Given the description of an element on the screen output the (x, y) to click on. 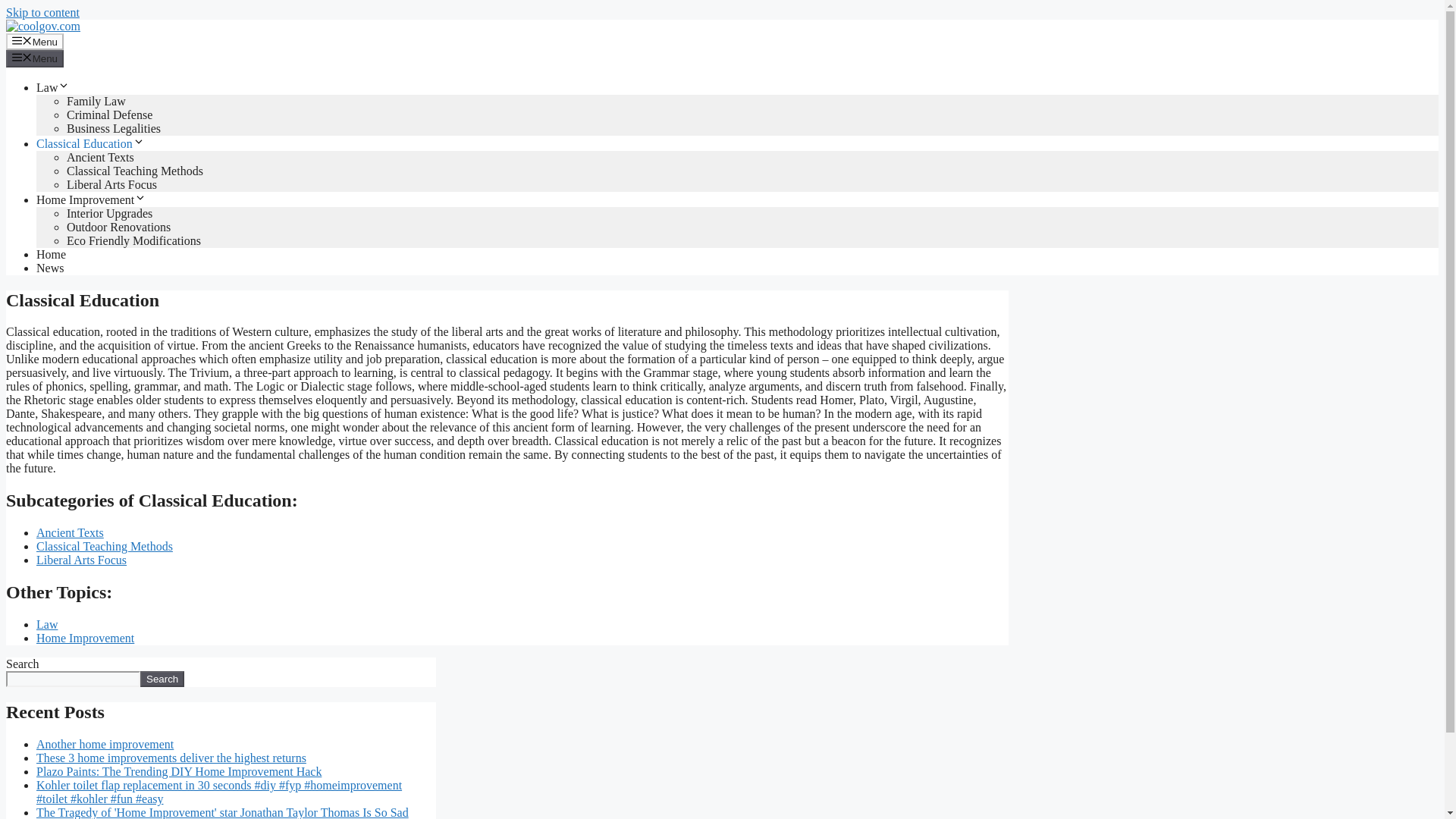
Liberal Arts Focus (81, 559)
Ancient Texts (99, 156)
Interior Upgrades (109, 213)
Family Law (95, 101)
Search (161, 678)
Home Improvement (91, 199)
Plazo Paints: The Trending DIY Home Improvement Hack (178, 771)
Liberal Arts Focus (111, 184)
Outdoor Renovations (118, 226)
Classical Education (90, 143)
